Given the description of an element on the screen output the (x, y) to click on. 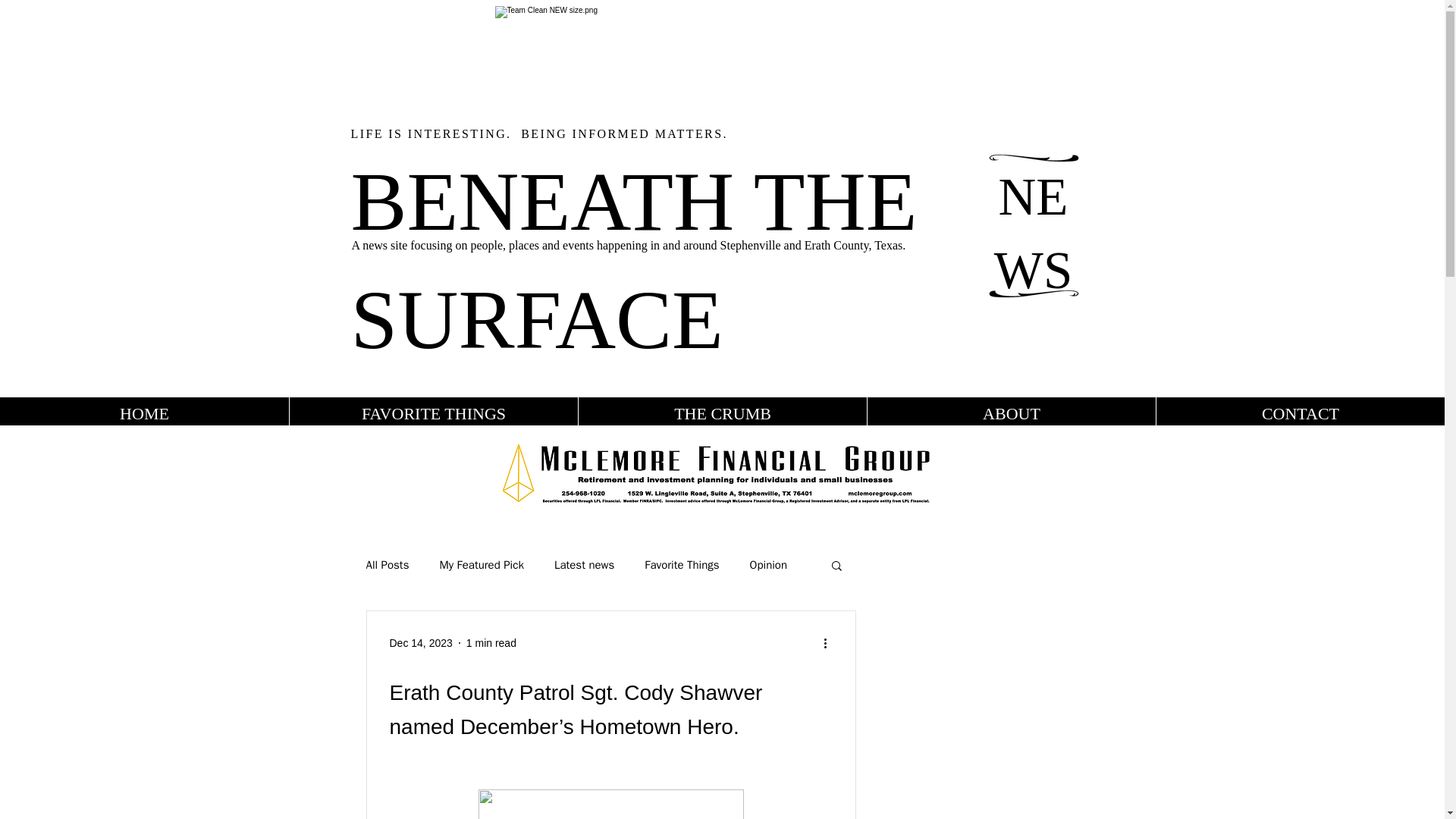
FAVORITE THINGS (433, 413)
1 min read (490, 643)
Favorite Things (682, 564)
My Featured Pick (480, 564)
HOME (144, 413)
Latest news (584, 564)
All Posts (387, 564)
Opinion (768, 564)
ABOUT (1011, 413)
THE CRUMB (722, 413)
Dec 14, 2023 (421, 643)
BENEATH THE SURFACE (633, 259)
